Given the description of an element on the screen output the (x, y) to click on. 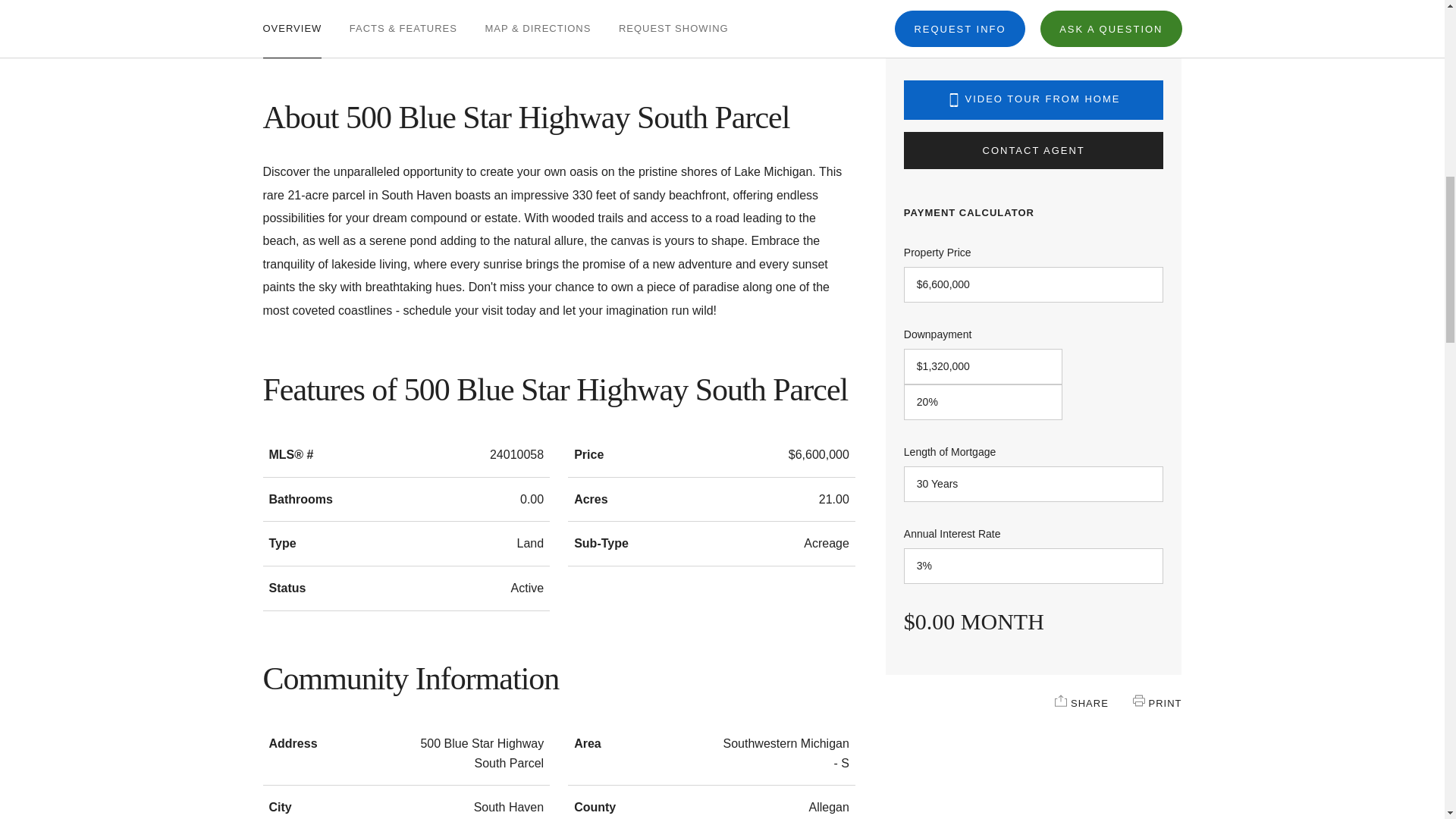
MOBILE ICON (953, 100)
PRINT (1138, 700)
SHARE (1060, 700)
30 Years (1033, 484)
